Given the description of an element on the screen output the (x, y) to click on. 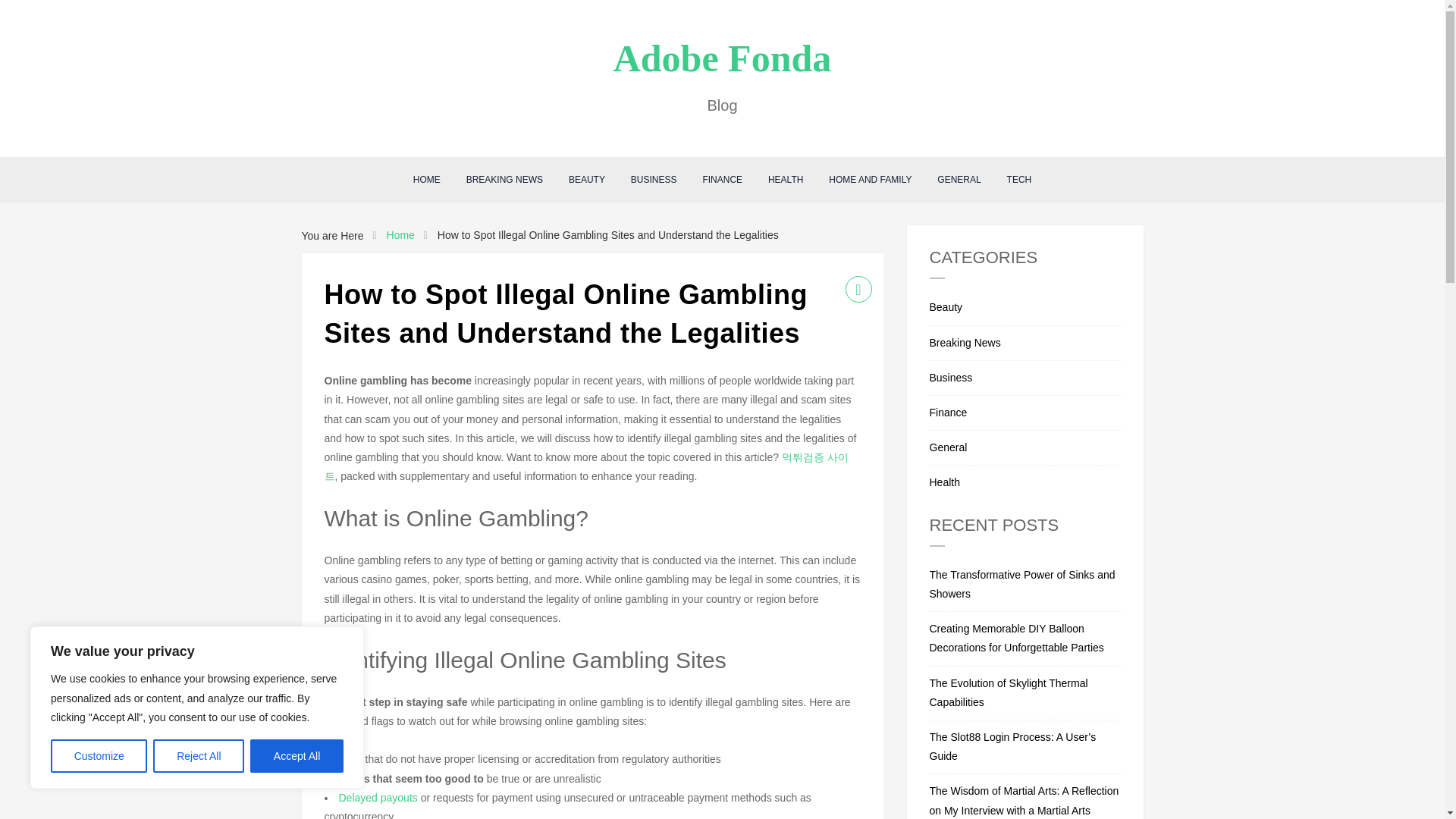
BREAKING NEWS (504, 179)
GENERAL (958, 179)
Home (399, 235)
HEALTH (785, 179)
BEAUTY (586, 179)
FINANCE (722, 179)
HOME AND FAMILY (869, 179)
Accept All (296, 756)
HOME (426, 179)
Adobe Fonda (721, 57)
Reject All (198, 756)
TECH (1019, 179)
Delayed payouts (376, 797)
Customize (98, 756)
BUSINESS (654, 179)
